Given the description of an element on the screen output the (x, y) to click on. 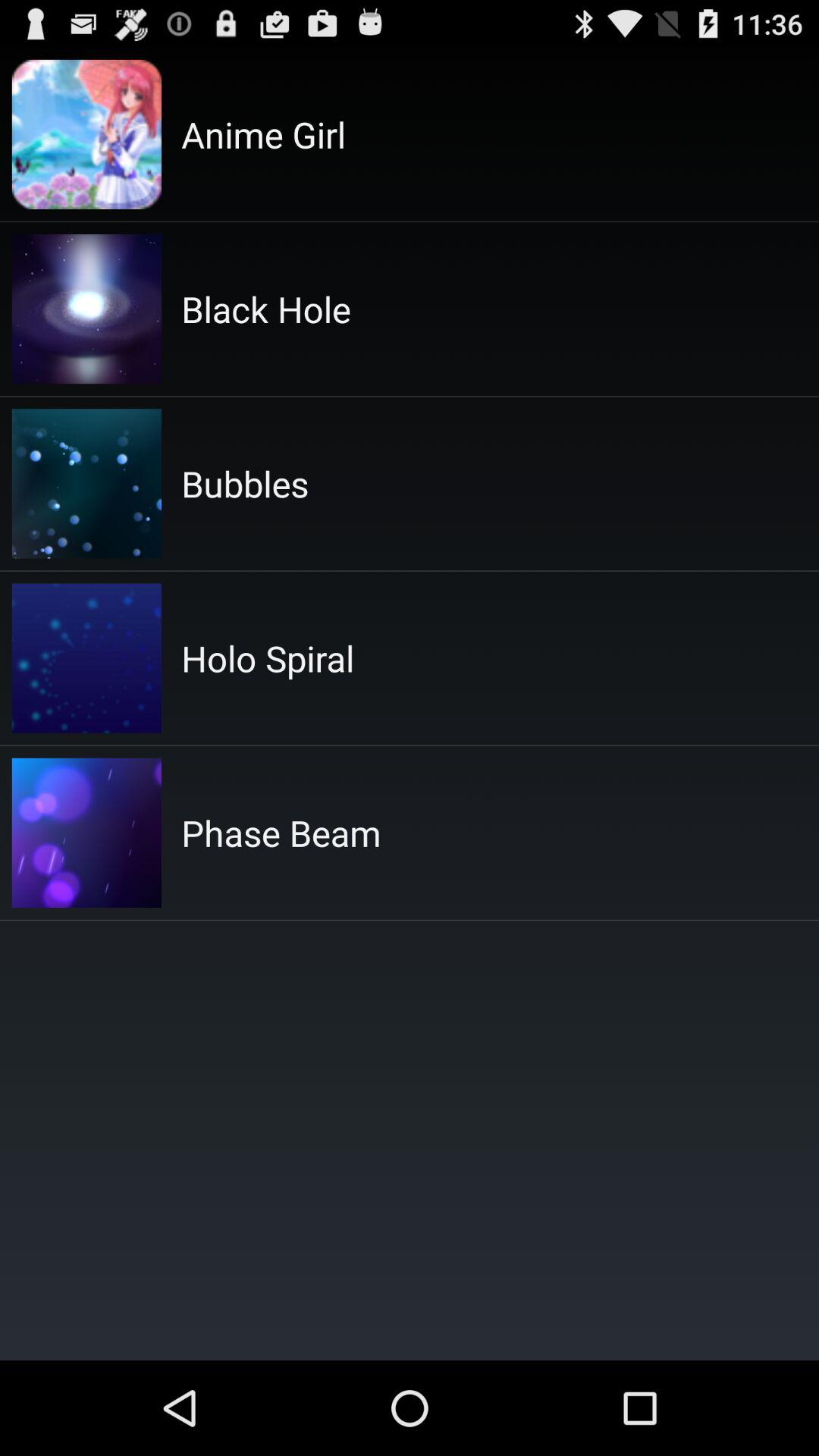
scroll to phase beam (281, 832)
